Given the description of an element on the screen output the (x, y) to click on. 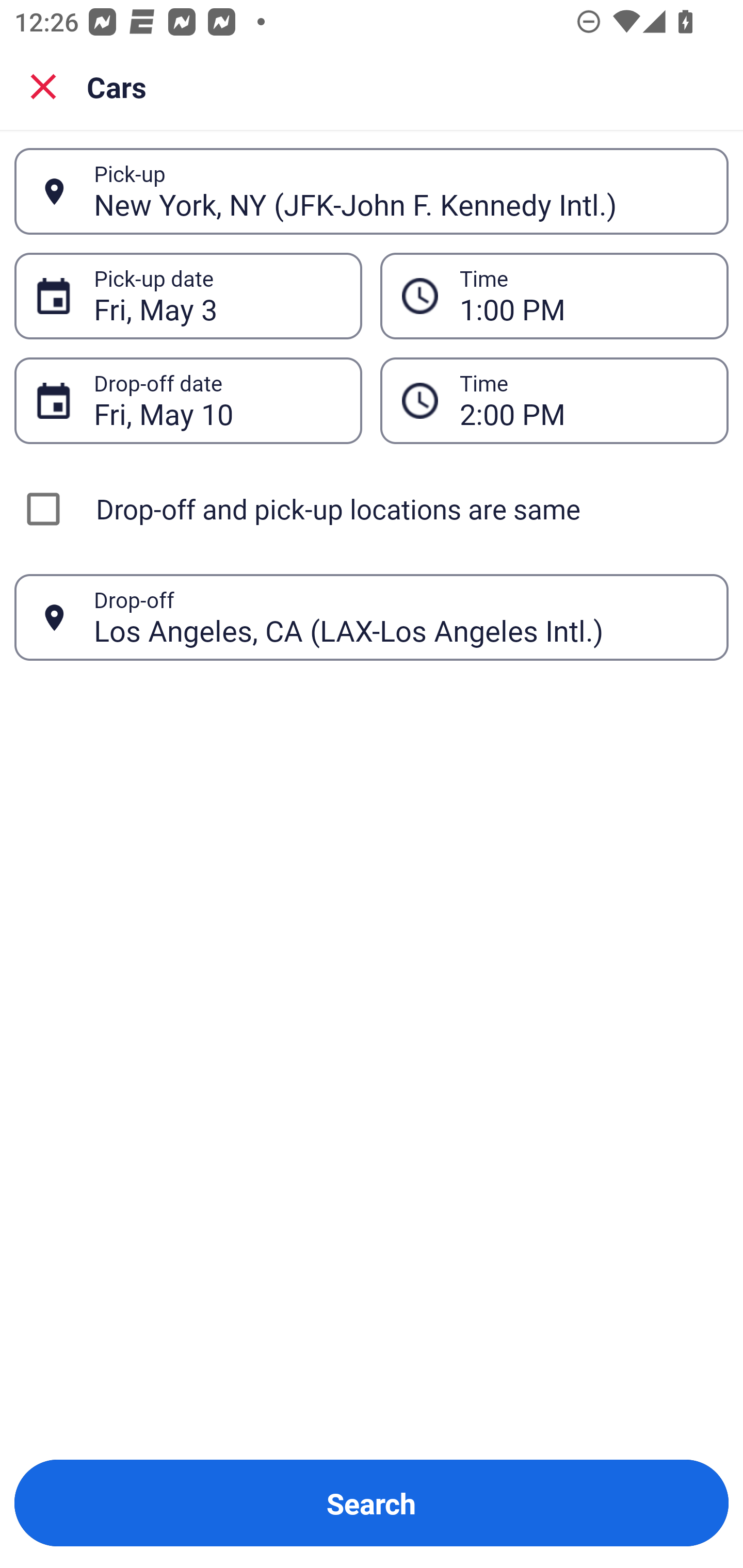
Close search screen (43, 86)
New York, NY (JFK-John F. Kennedy Intl.) Pick-up (371, 191)
New York, NY (JFK-John F. Kennedy Intl.) (399, 191)
Fri, May 3 Pick-up date (188, 295)
1:00 PM (554, 295)
Fri, May 3 (216, 296)
1:00 PM (582, 296)
Fri, May 10 Drop-off date (188, 400)
2:00 PM (554, 400)
Fri, May 10 (216, 400)
2:00 PM (582, 400)
Drop-off and pick-up locations are same (371, 508)
Los Angeles, CA (LAX-Los Angeles Intl.) Drop-off (371, 616)
Los Angeles, CA (LAX-Los Angeles Intl.) (399, 616)
Search Button Search (371, 1502)
